Given the description of an element on the screen output the (x, y) to click on. 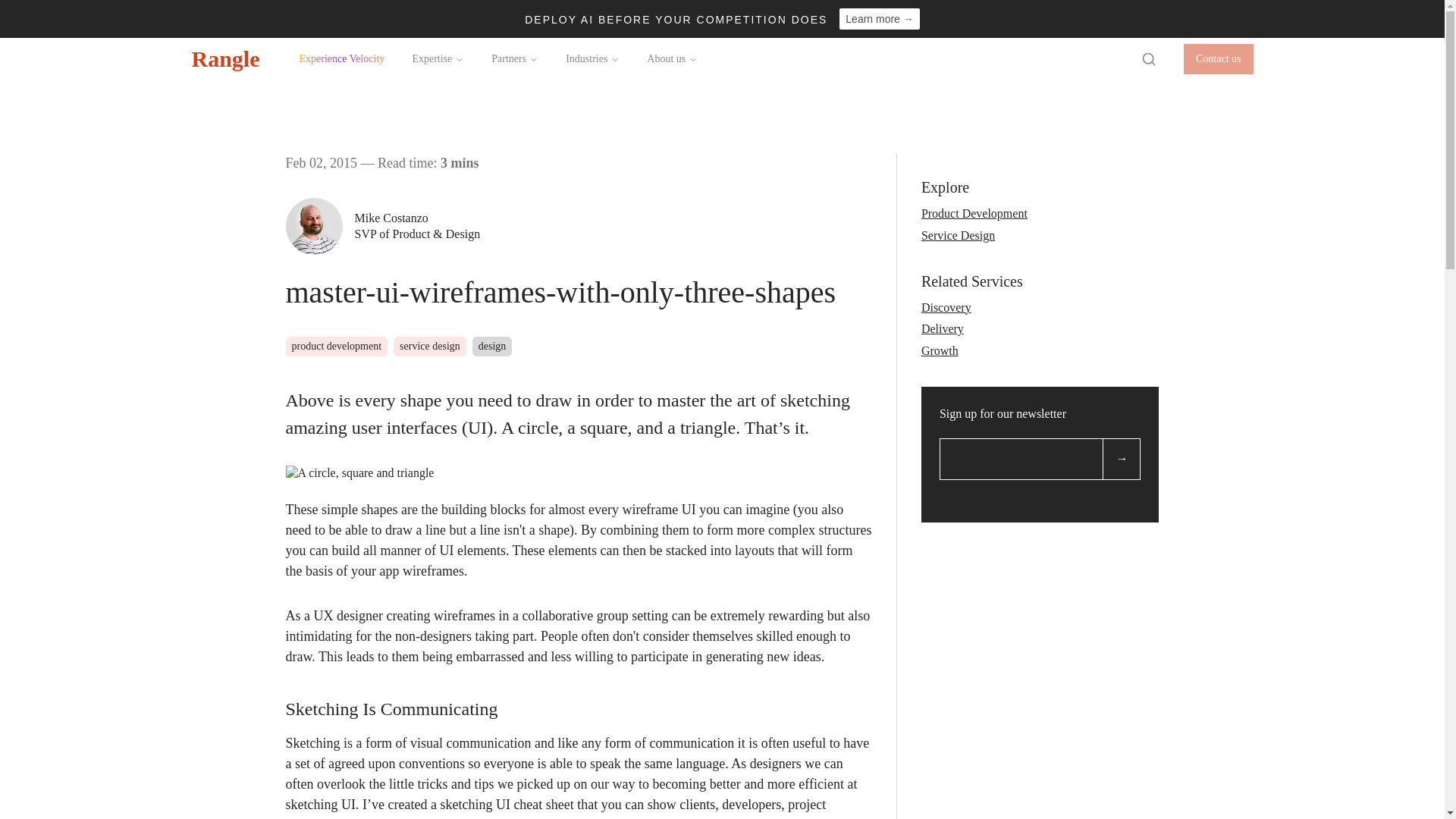
Delivery (942, 328)
Partners (514, 58)
Discovery (946, 307)
Expertise (437, 58)
Industries (592, 58)
Service Design (957, 235)
Mike Costanzo (417, 218)
Contact us (1218, 59)
Growth (939, 350)
Rangle (224, 58)
